Given the description of an element on the screen output the (x, y) to click on. 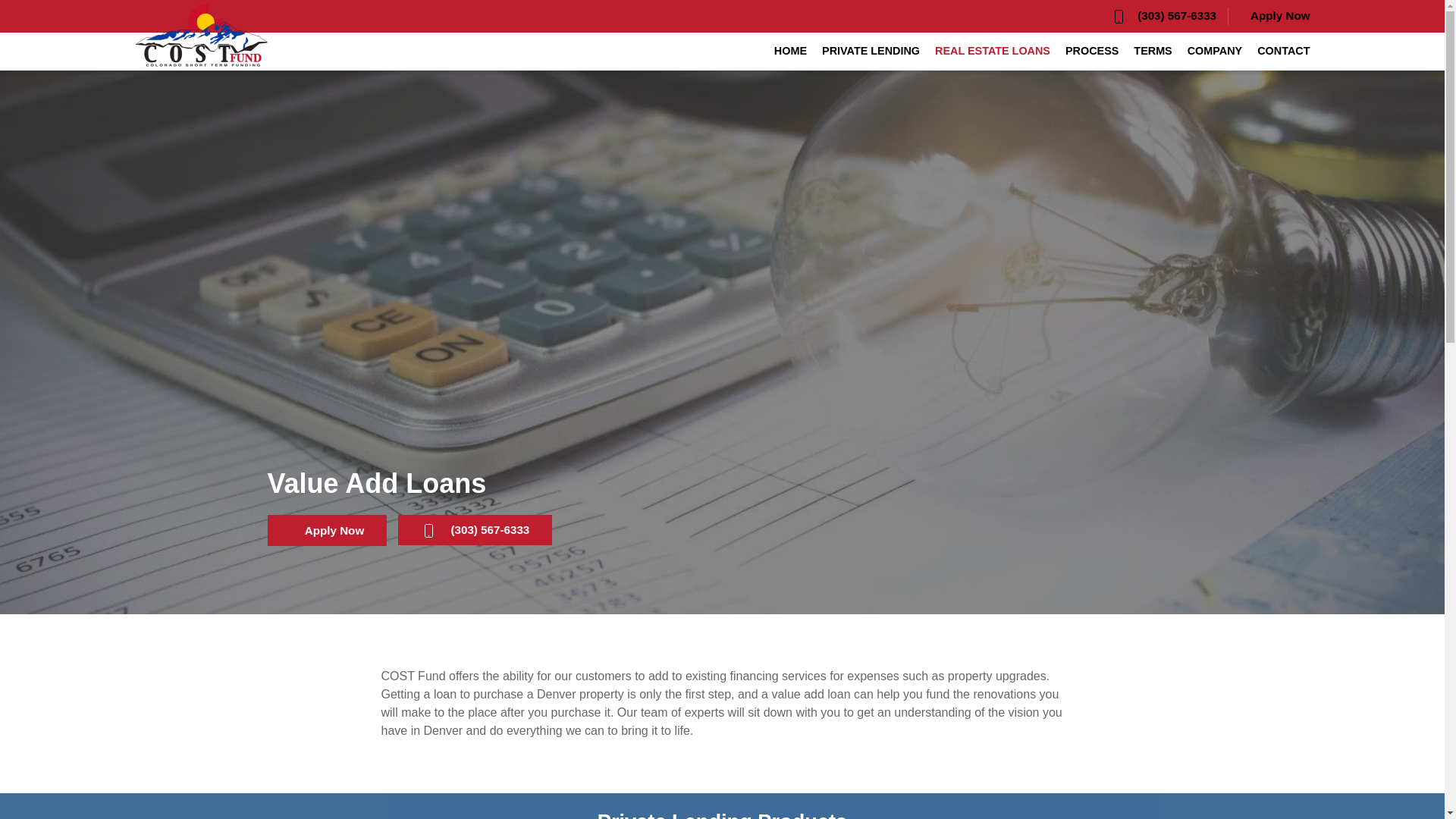
Apply Now (1273, 16)
REAL ESTATE LOANS (991, 51)
PRIVATE LENDING (871, 51)
TERMS (1153, 51)
PROCESS (1091, 51)
